Given the description of an element on the screen output the (x, y) to click on. 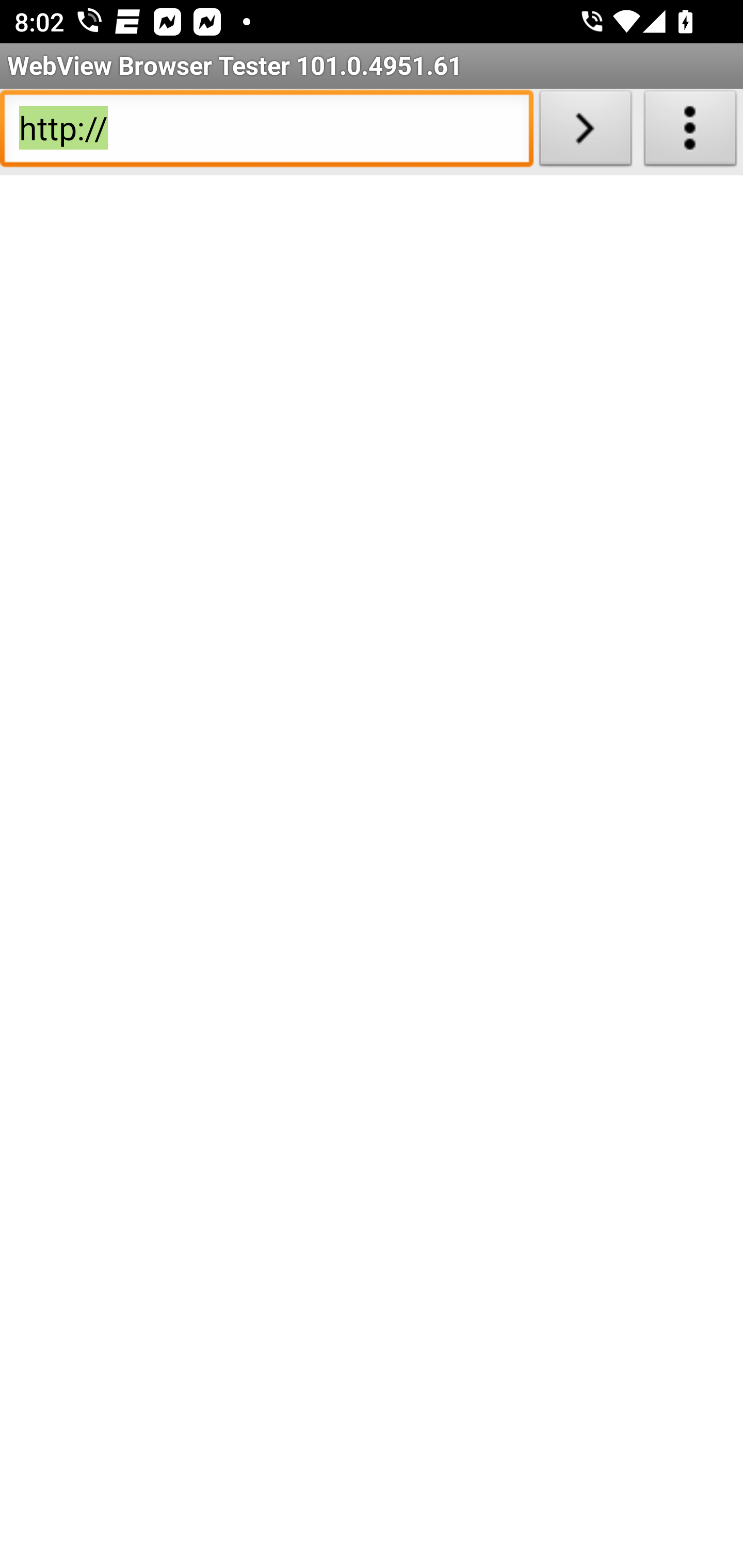
http:// (266, 132)
Load URL (585, 132)
About WebView (690, 132)
